Given the description of an element on the screen output the (x, y) to click on. 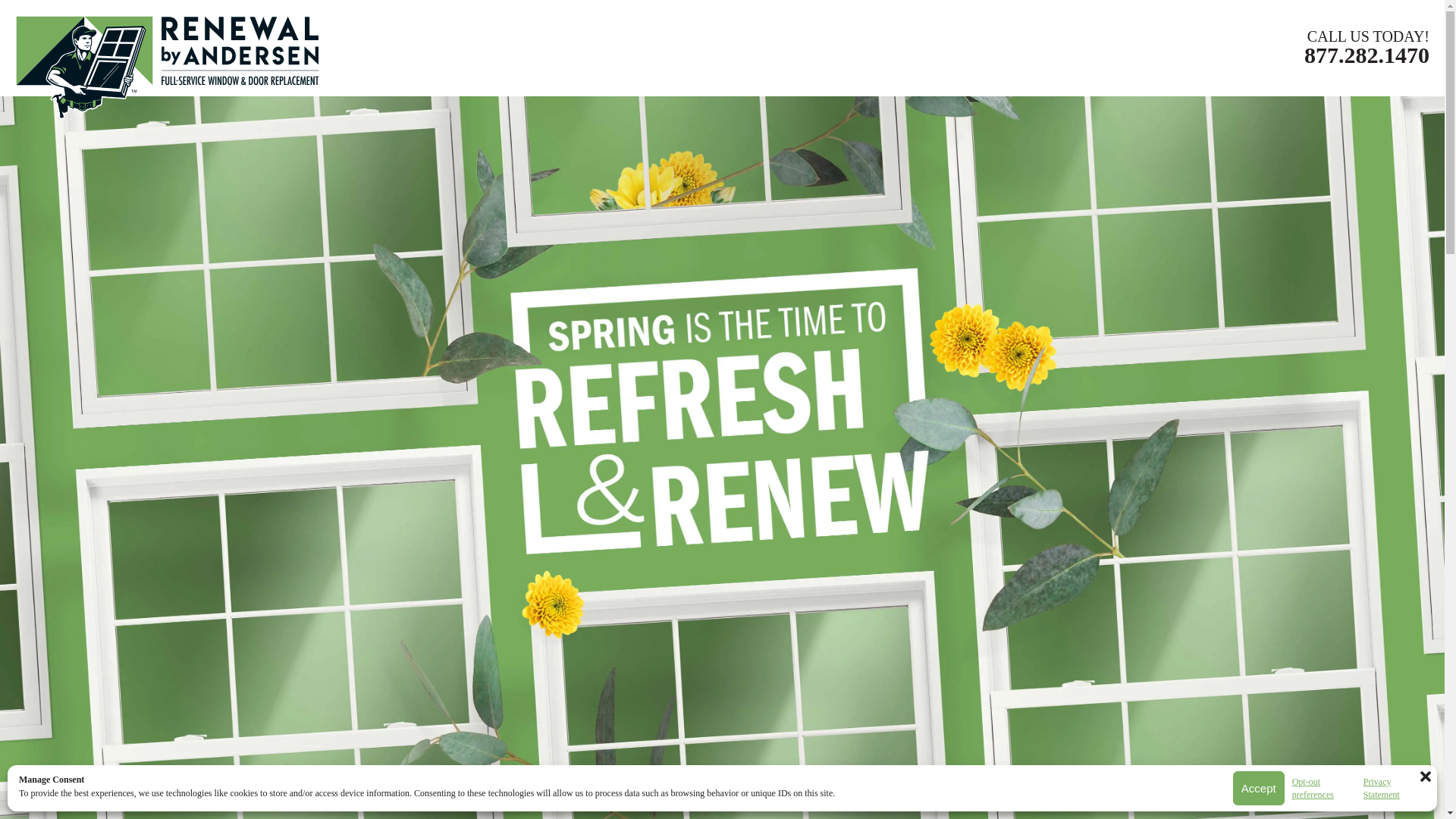
Opt-out preferences (1323, 788)
877.282.1470 (1366, 55)
Accept (1258, 788)
Privacy Statement (1392, 788)
